Given the description of an element on the screen output the (x, y) to click on. 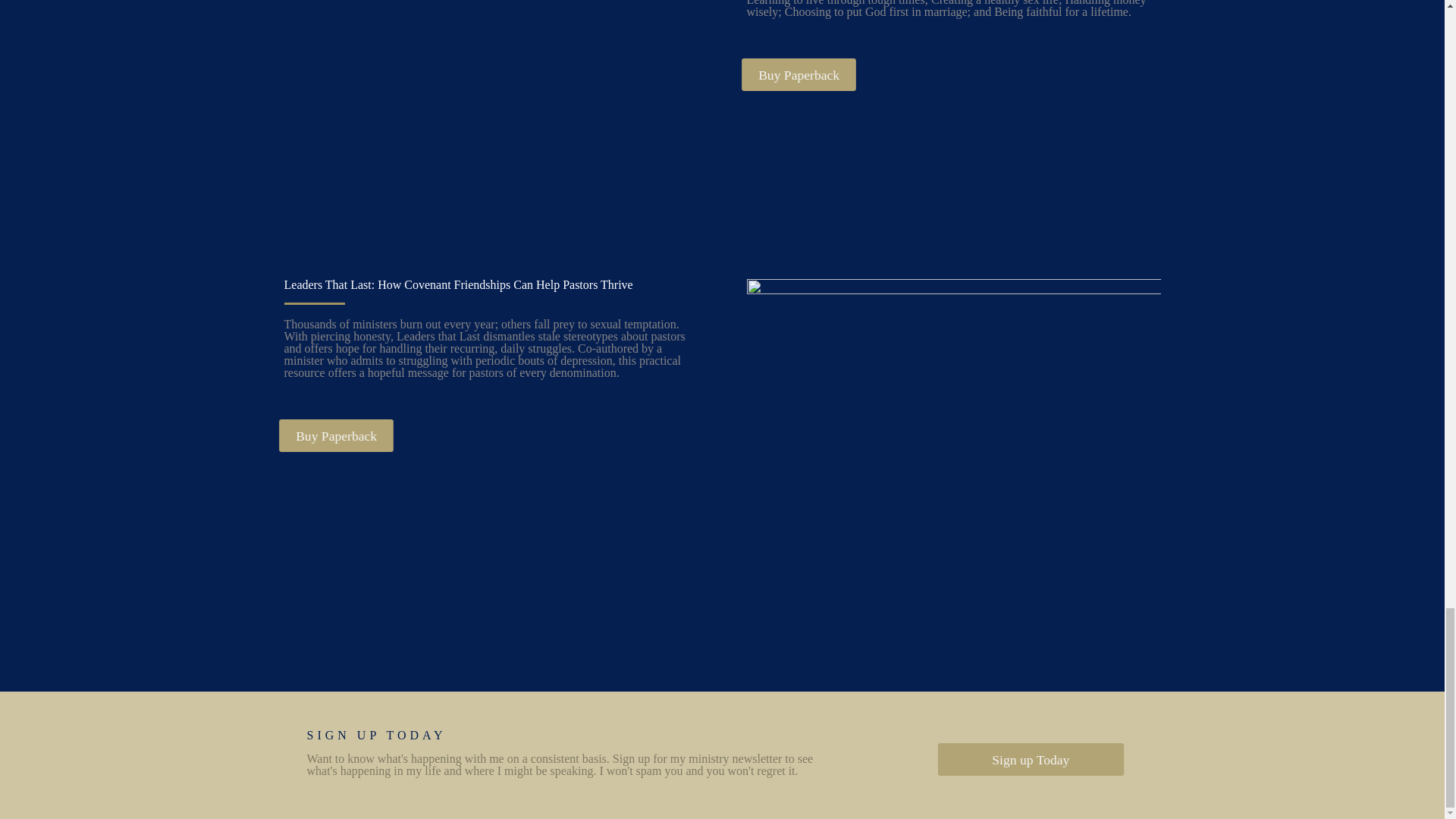
Sign up Today (1021, 757)
Buy Paperback (330, 433)
Buy Paperback (793, 72)
